Given the description of an element on the screen output the (x, y) to click on. 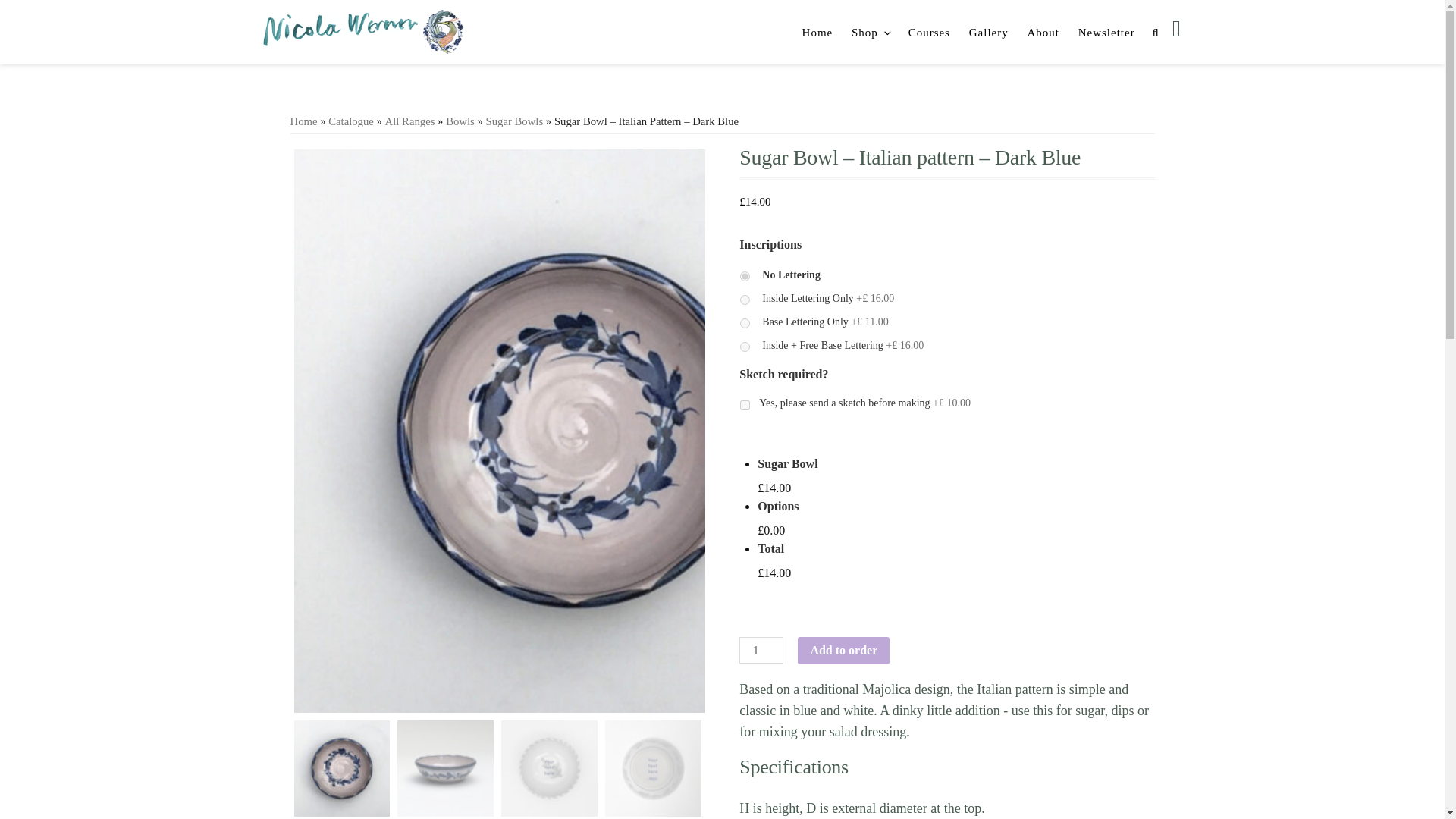
All Ranges (410, 121)
Gallery (988, 32)
Sugar Bowls (513, 121)
Bowls (459, 121)
About (1043, 32)
1 (761, 650)
Home (303, 121)
Courses (929, 32)
Catalogue (351, 121)
Home (817, 32)
Add to order (843, 650)
Newsletter (1106, 32)
Shop (870, 32)
